Given the description of an element on the screen output the (x, y) to click on. 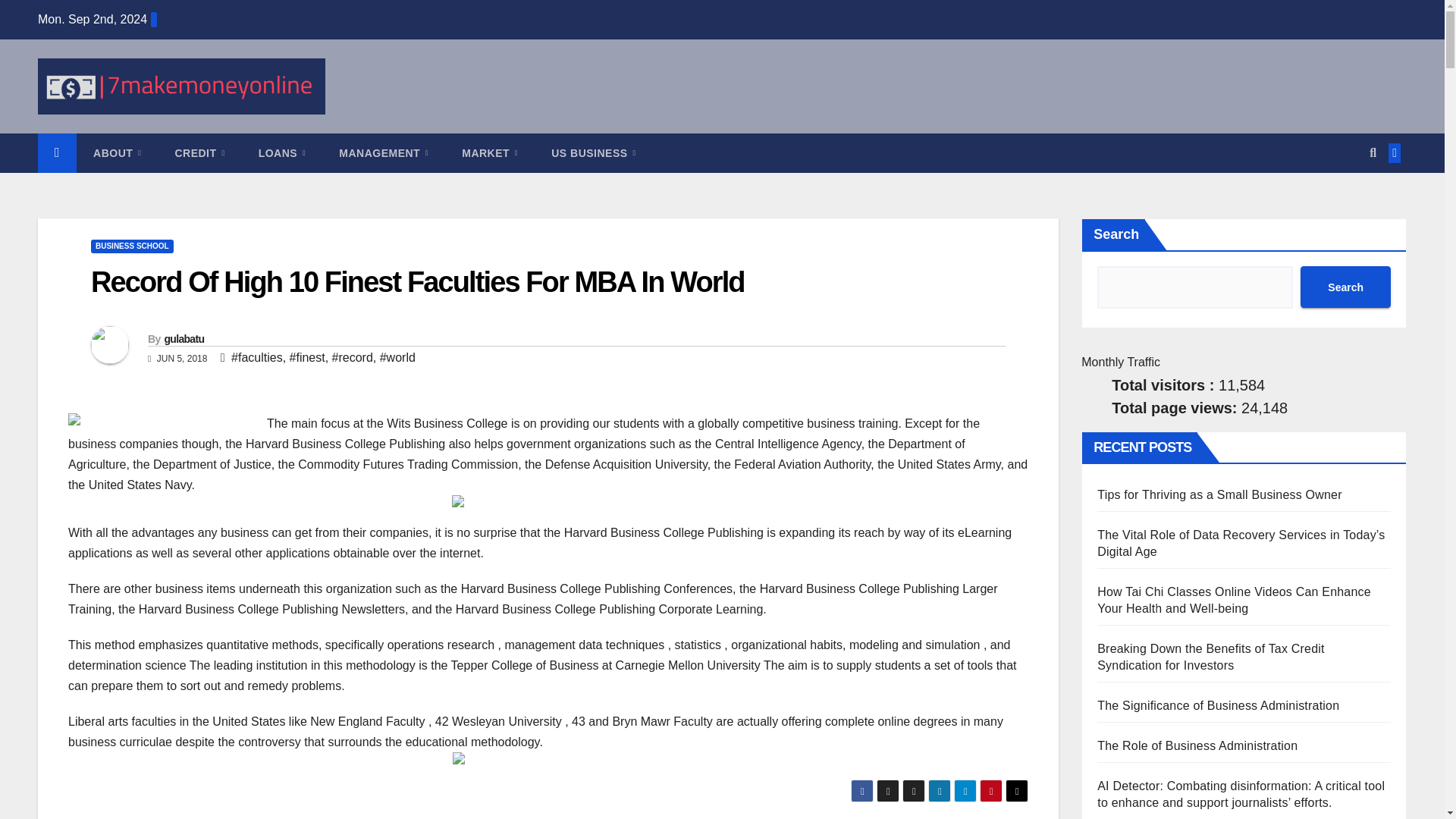
Credit (199, 152)
MANAGEMENT (383, 152)
US BUSINESS (593, 152)
ABOUT (117, 152)
About (117, 152)
LOANS (282, 152)
CREDIT (199, 152)
Loans (282, 152)
MARKET (489, 152)
Management (383, 152)
